Given the description of an element on the screen output the (x, y) to click on. 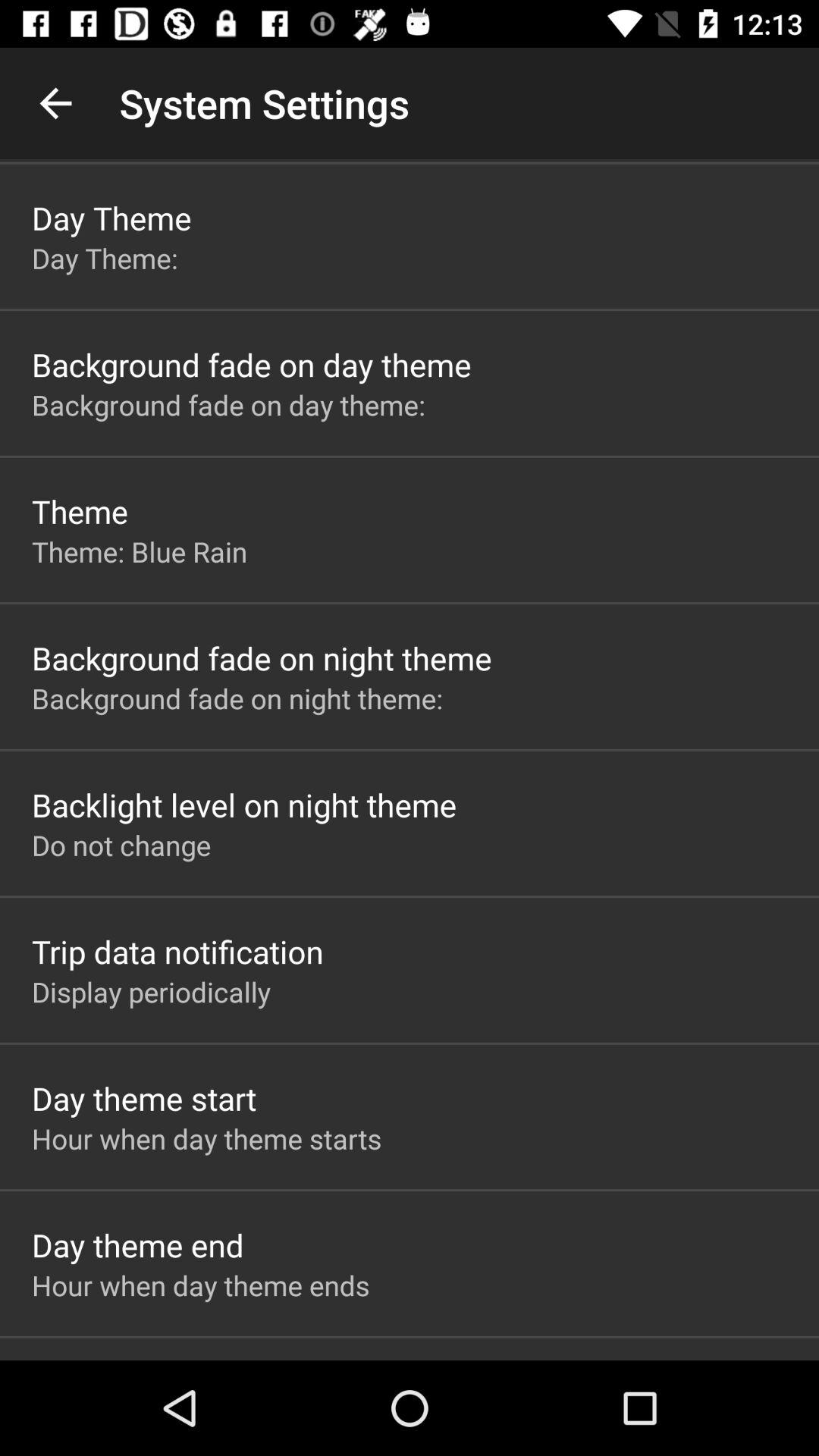
open the app above the trip data notification (121, 844)
